Given the description of an element on the screen output the (x, y) to click on. 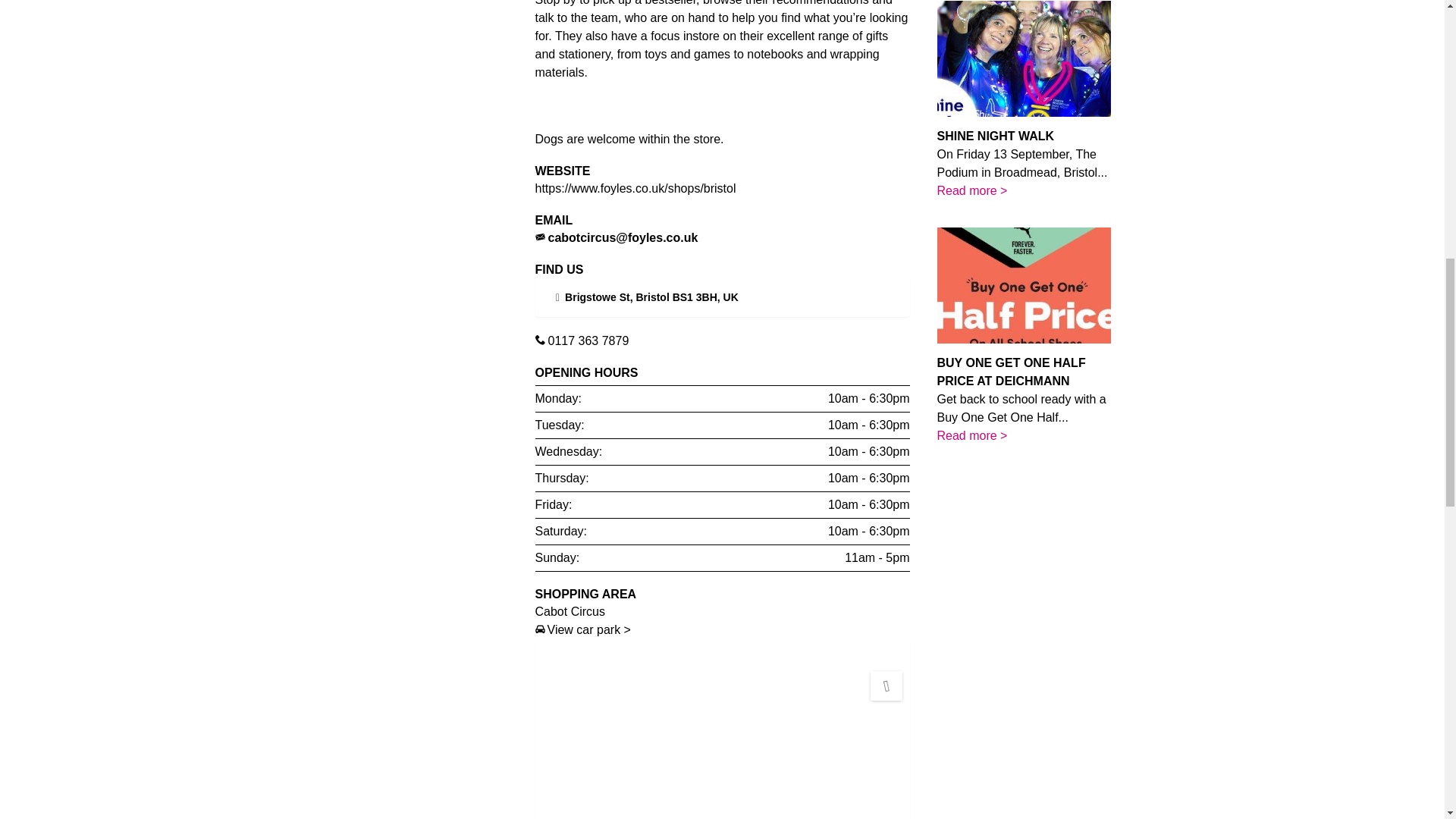
116 (354, 21)
0117 363 7879 (587, 340)
118 (354, 139)
119 (354, 80)
59 (354, 110)
Brigstowe St, Bristol BS1 3BH, UK (651, 297)
113 (354, 50)
